Given the description of an element on the screen output the (x, y) to click on. 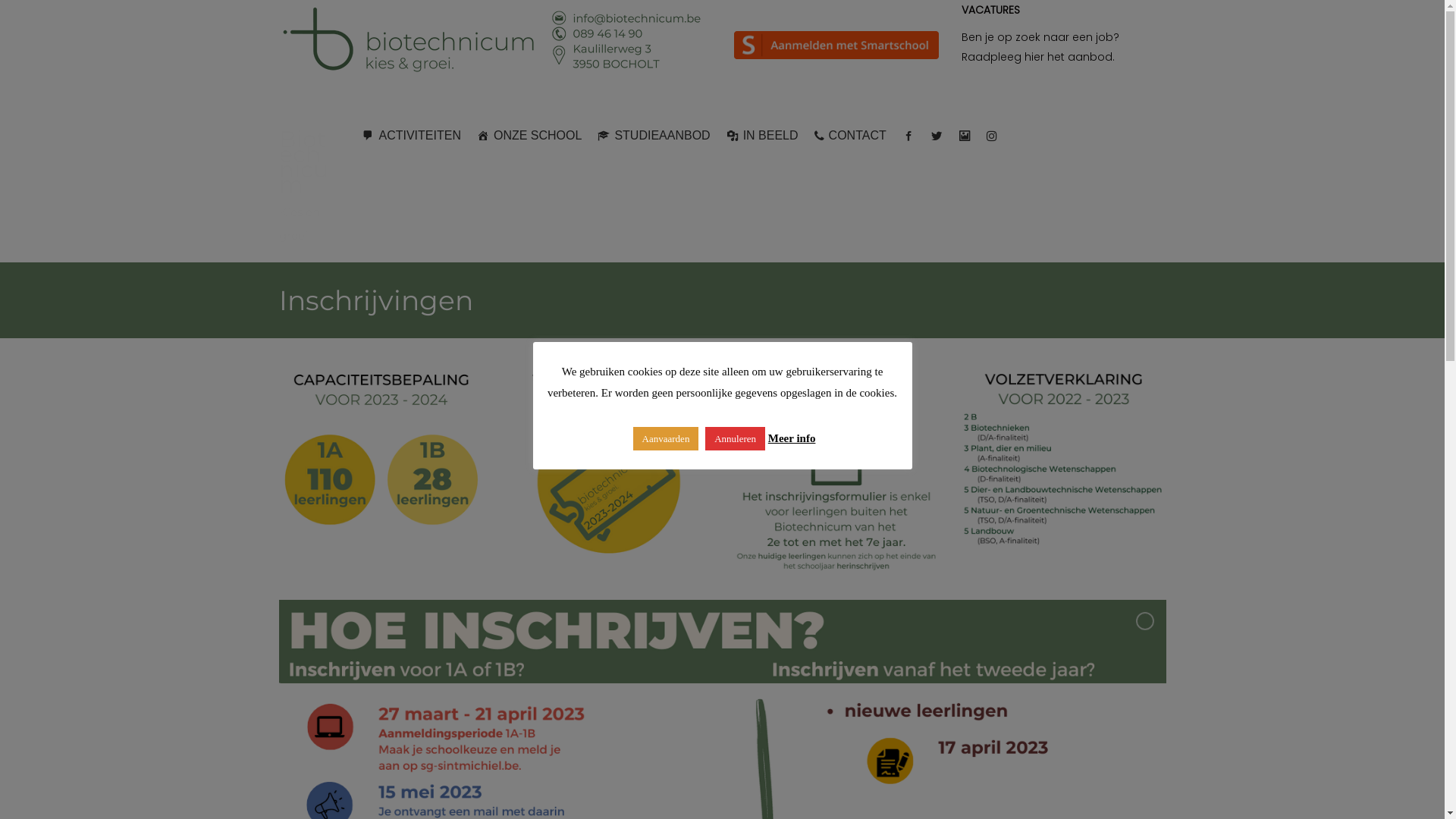
ACTIVITEITEN Element type: text (410, 135)
Biotechnicum Element type: text (303, 161)
hier Element type: text (1033, 56)
Annuleren Element type: text (735, 438)
IN BEELD Element type: text (762, 135)
Aanvaarden Element type: text (666, 438)
STUDIEAANBOD Element type: text (653, 135)
Meer info Element type: text (791, 438)
CONTACT Element type: text (850, 135)
ONZE SCHOOL Element type: text (529, 135)
